Given the description of an element on the screen output the (x, y) to click on. 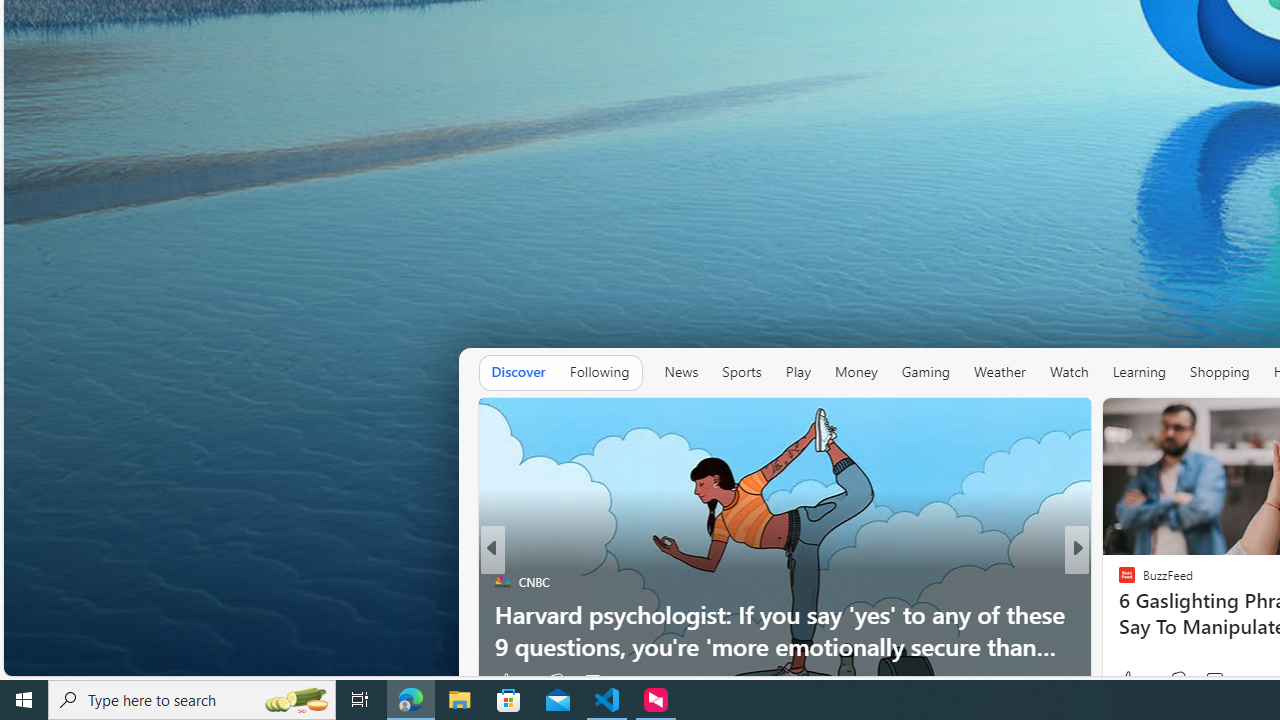
Money (856, 371)
View comments 66 Comment (1217, 681)
View comments 16 Comment (1217, 681)
Learning (1138, 371)
View comments 15 Comment (1209, 681)
Gaming (925, 371)
View comments 89 Comment (1223, 681)
View comments 1k Comment (1217, 681)
33 Like (1128, 681)
Martha Stewart Living (1117, 614)
View comments 1k Comment (1208, 681)
91 Like (1128, 681)
